Given the description of an element on the screen output the (x, y) to click on. 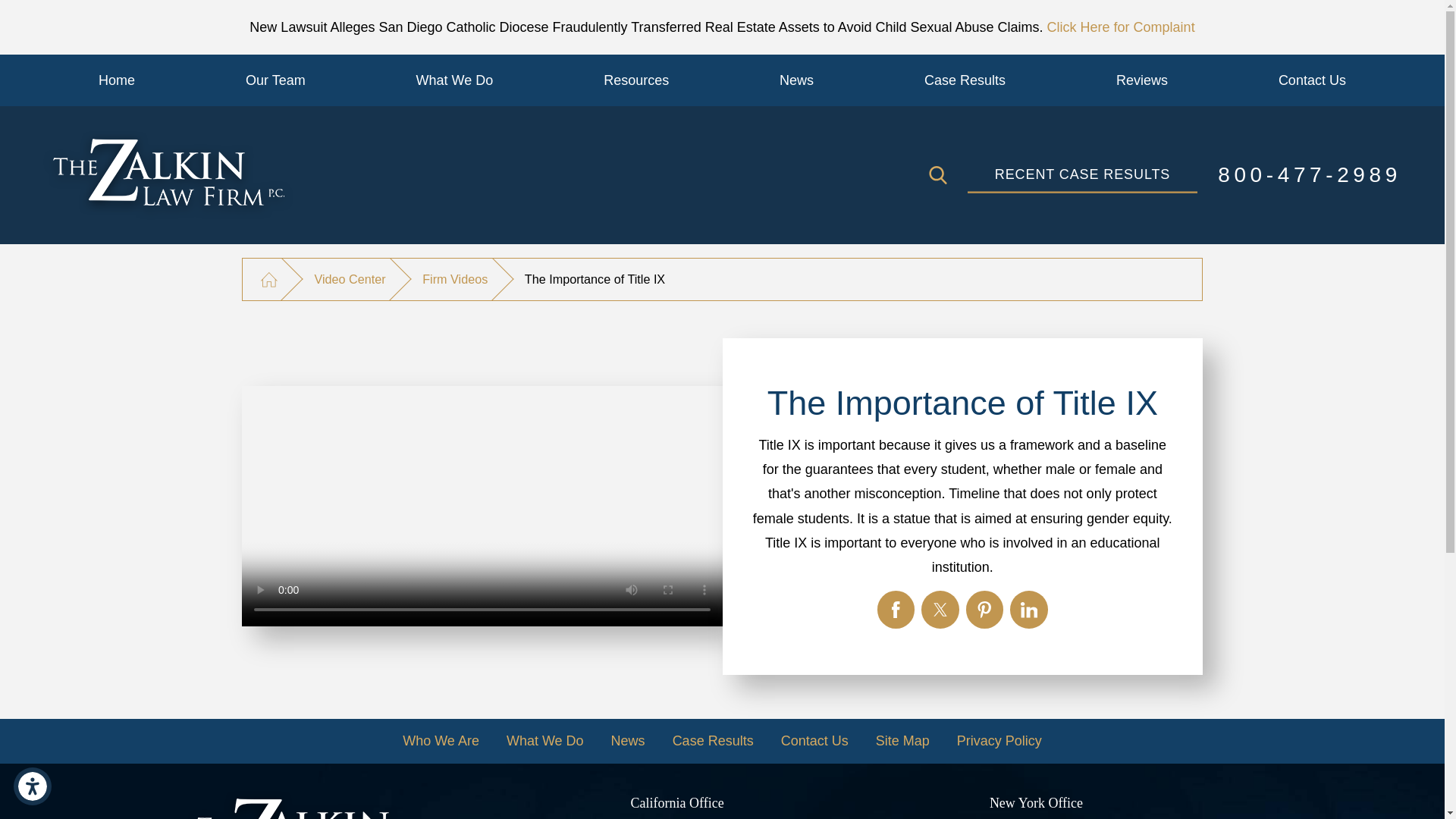
The Zalkin Law Firm, P.C. (168, 175)
News (796, 80)
Our Team (275, 80)
Go Home (269, 279)
Search Our Site (937, 175)
What We Do (454, 80)
Home (116, 80)
Resources (635, 80)
Open the accessibility options menu (31, 786)
Click Here for Complaint (1120, 27)
The Zalkin Law Firm, P.C. (312, 805)
